Given the description of an element on the screen output the (x, y) to click on. 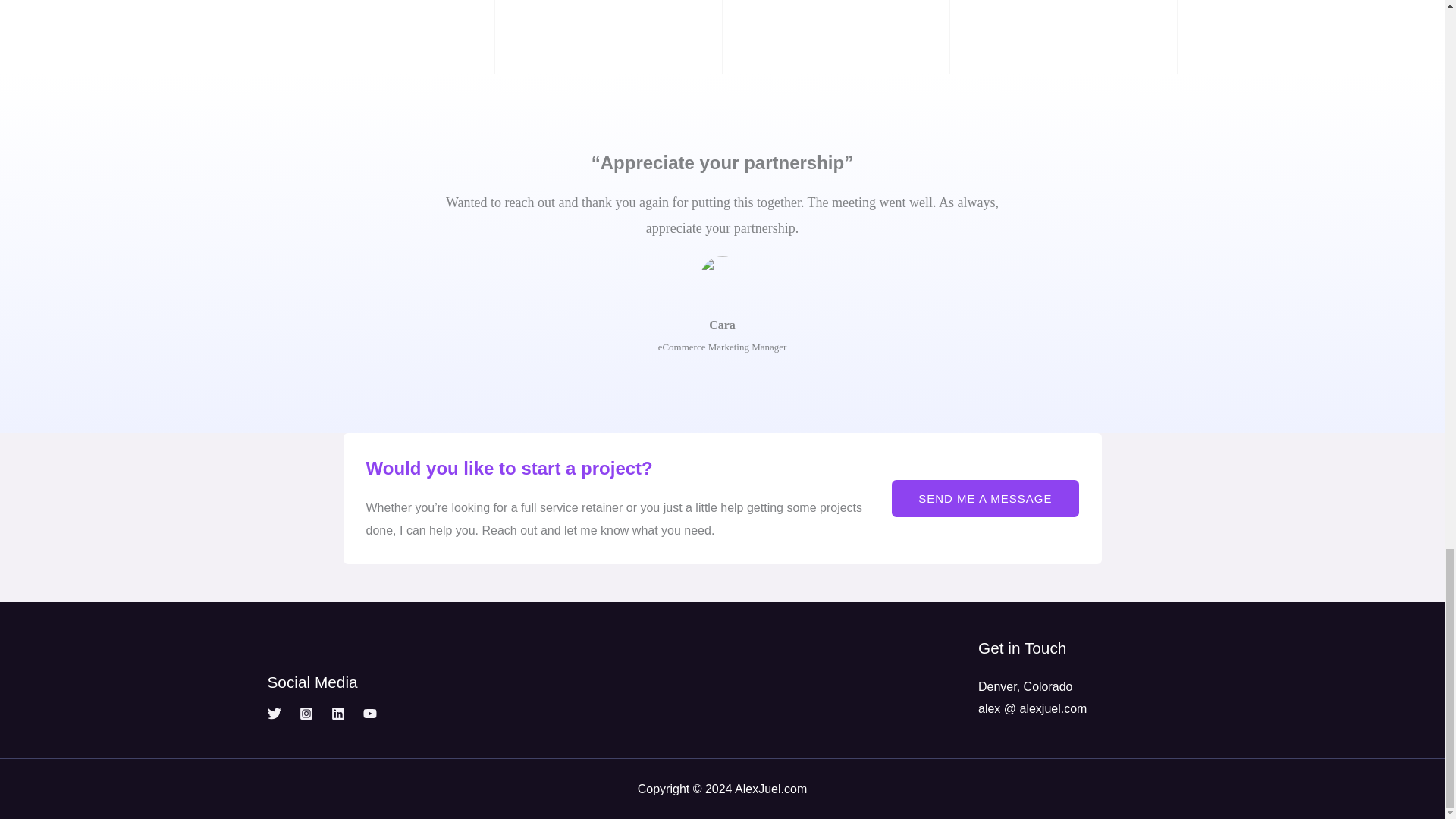
SEND ME A MESSAGE (984, 497)
